Given the description of an element on the screen output the (x, y) to click on. 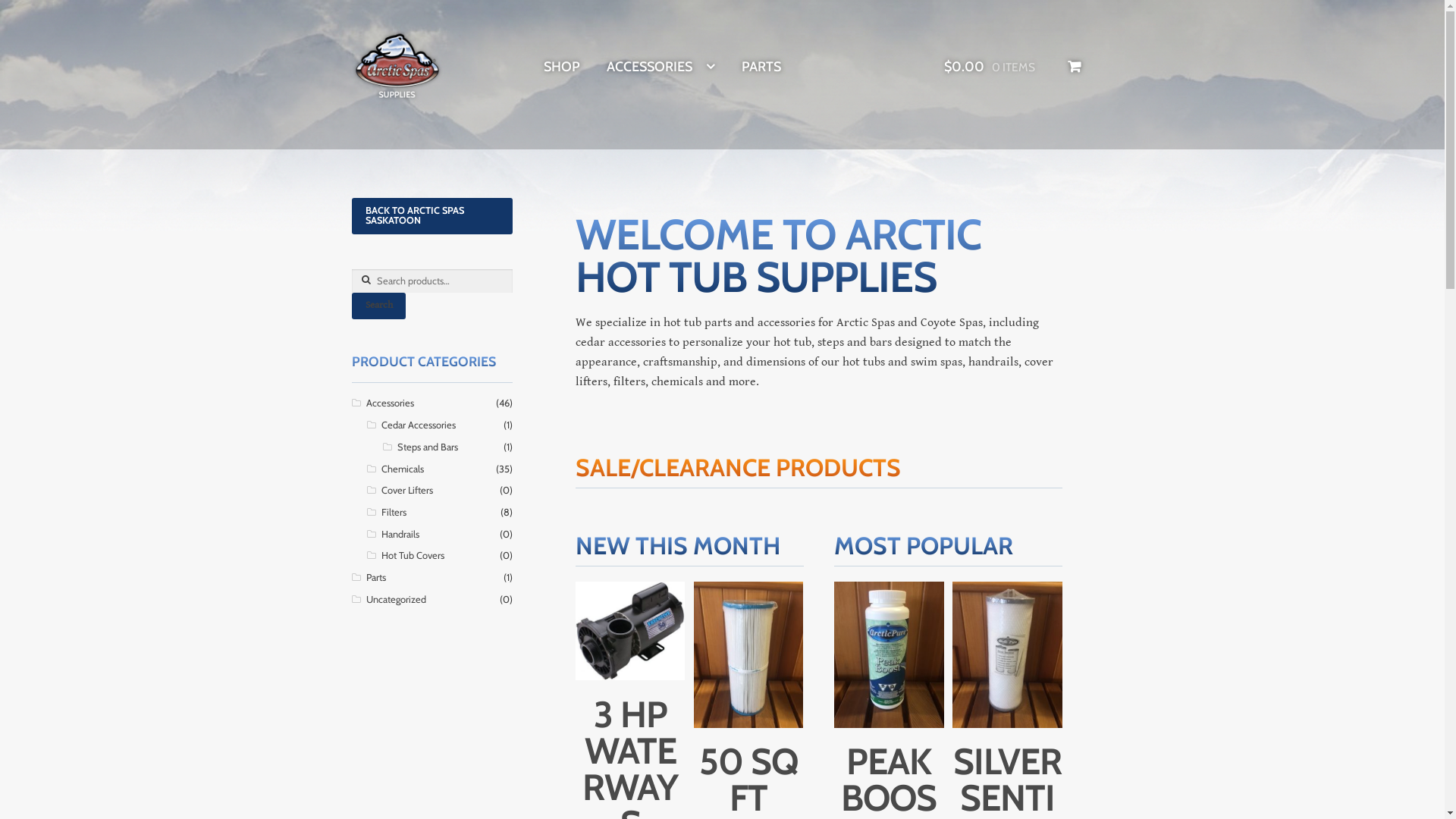
Cedar Accessories Element type: text (418, 424)
Search Element type: text (378, 305)
BACK TO ARCTIC SPAS SASKATOON Element type: text (432, 215)
$0.00 0 ITEMS Element type: text (1012, 67)
Uncategorized Element type: text (395, 599)
PARTS Element type: text (761, 67)
Chemicals Element type: text (402, 468)
SHOP Element type: text (561, 67)
Accessories Element type: text (389, 402)
Filters Element type: text (393, 511)
SKIP TO NAVIGATION Element type: text (351, 28)
ACCESSORIES Element type: text (660, 67)
Cover Lifters Element type: text (407, 489)
Parts Element type: text (375, 577)
Hot Tub Covers Element type: text (412, 555)
Handrails Element type: text (400, 533)
Steps and Bars Element type: text (427, 446)
